Given the description of an element on the screen output the (x, y) to click on. 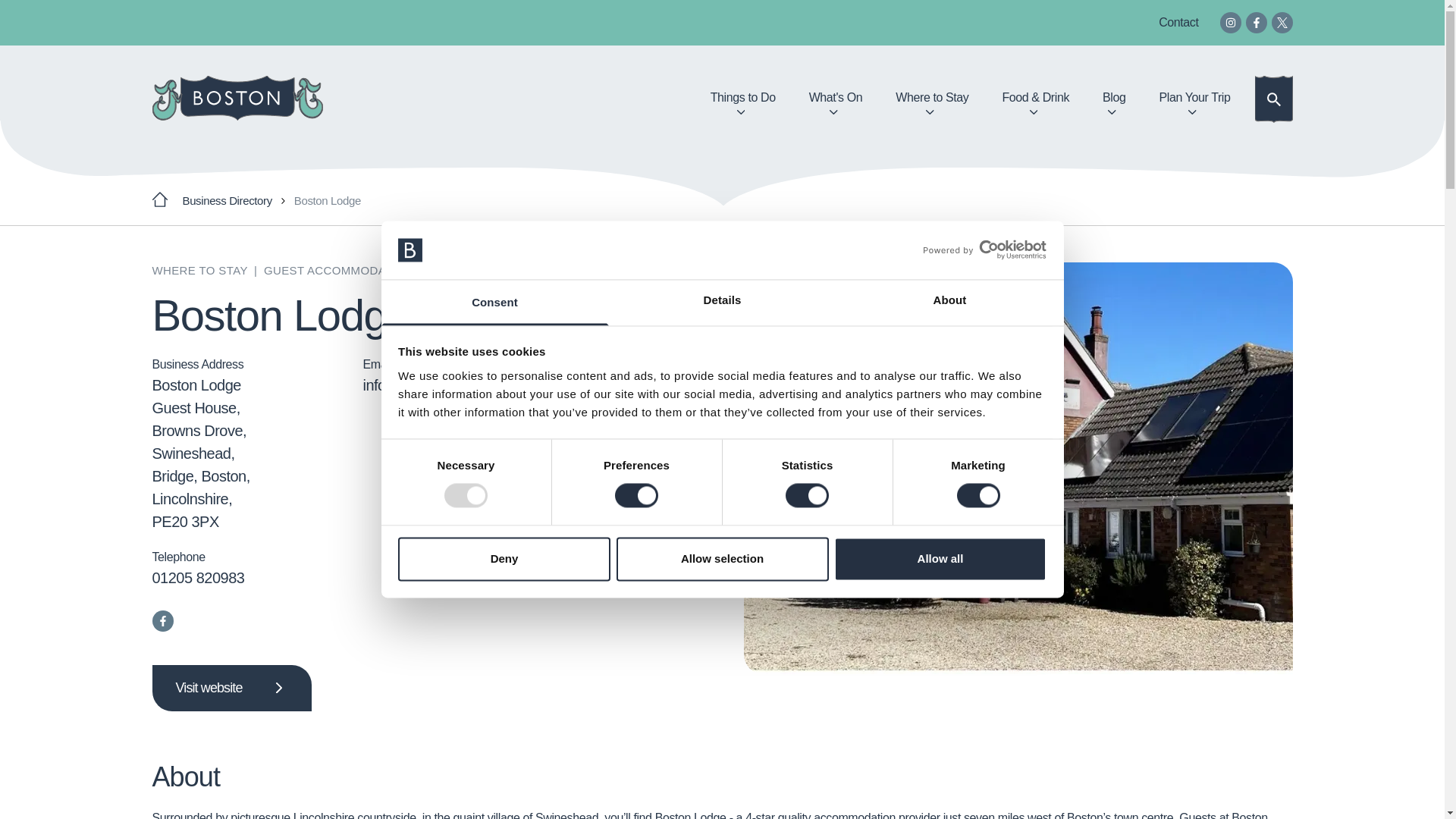
Allow selection (721, 558)
Consent (494, 302)
Deny (503, 558)
Details (721, 302)
About (948, 302)
Allow all (940, 558)
